Given the description of an element on the screen output the (x, y) to click on. 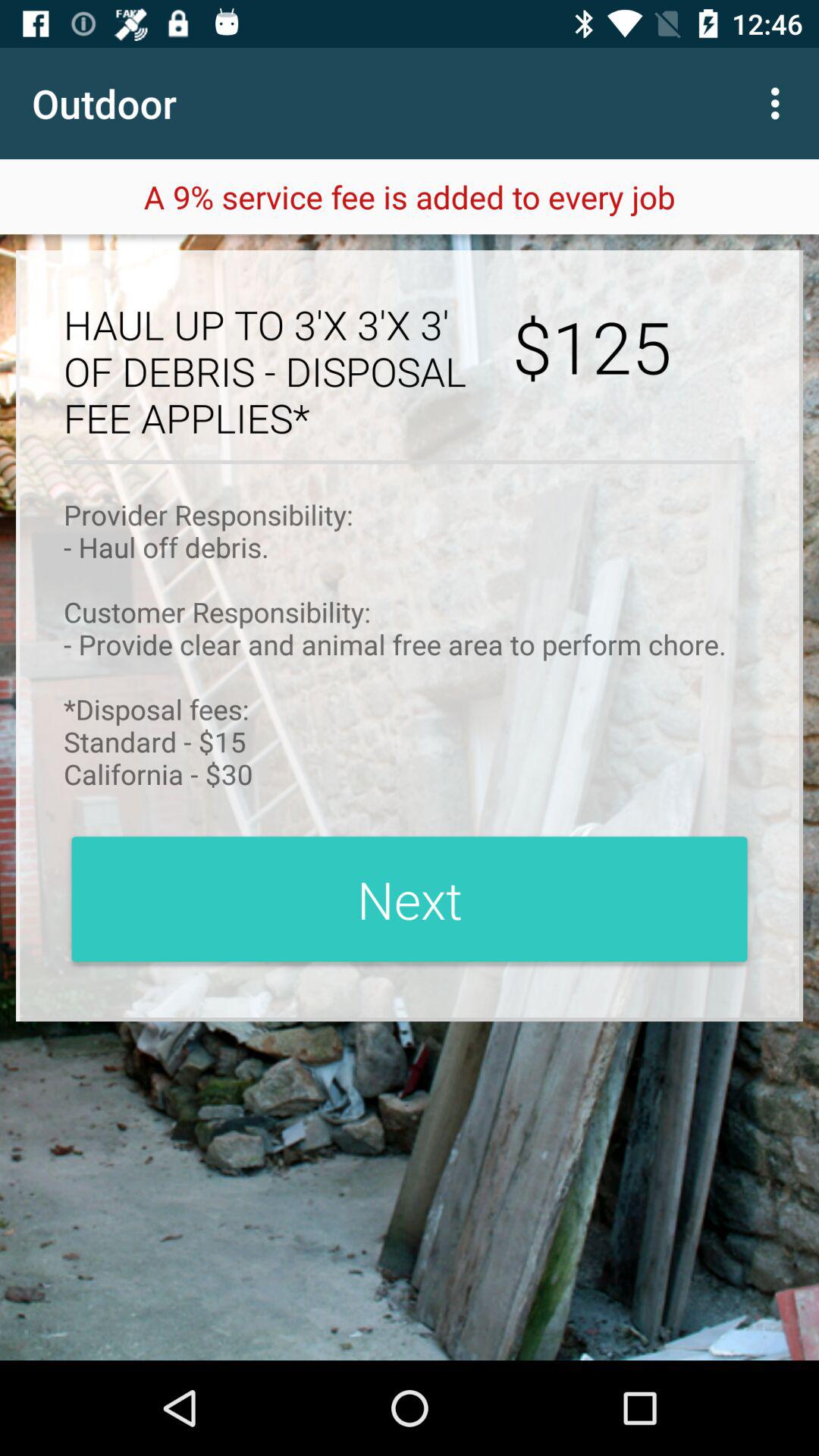
tap the icon below the provider responsibility  item (409, 898)
